Given the description of an element on the screen output the (x, y) to click on. 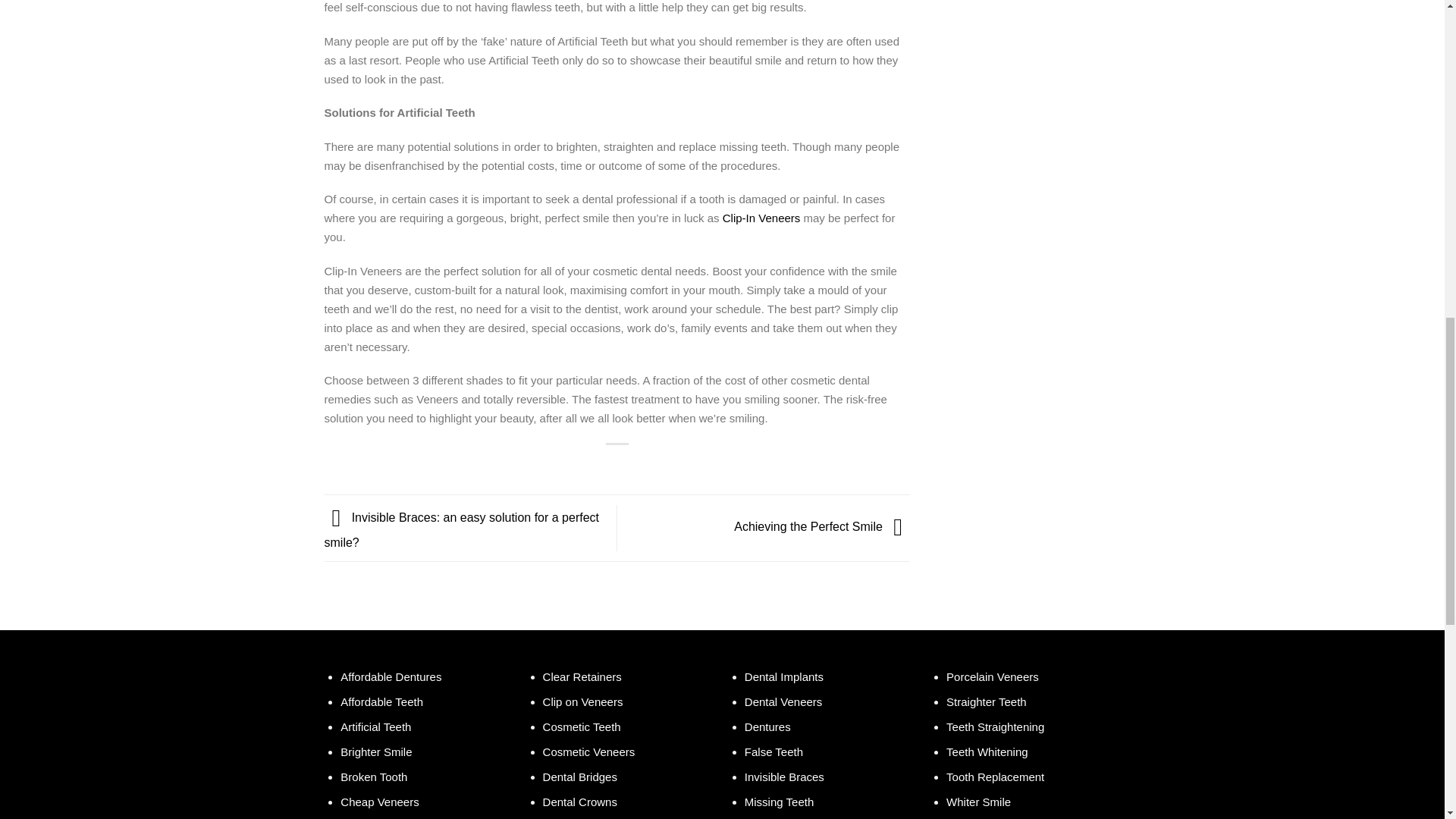
Invisible Braces: an easy solution for a perfect smile? (461, 529)
Achieving the Perfect Smile (821, 526)
Clip-In Veneers (761, 217)
